Given the description of an element on the screen output the (x, y) to click on. 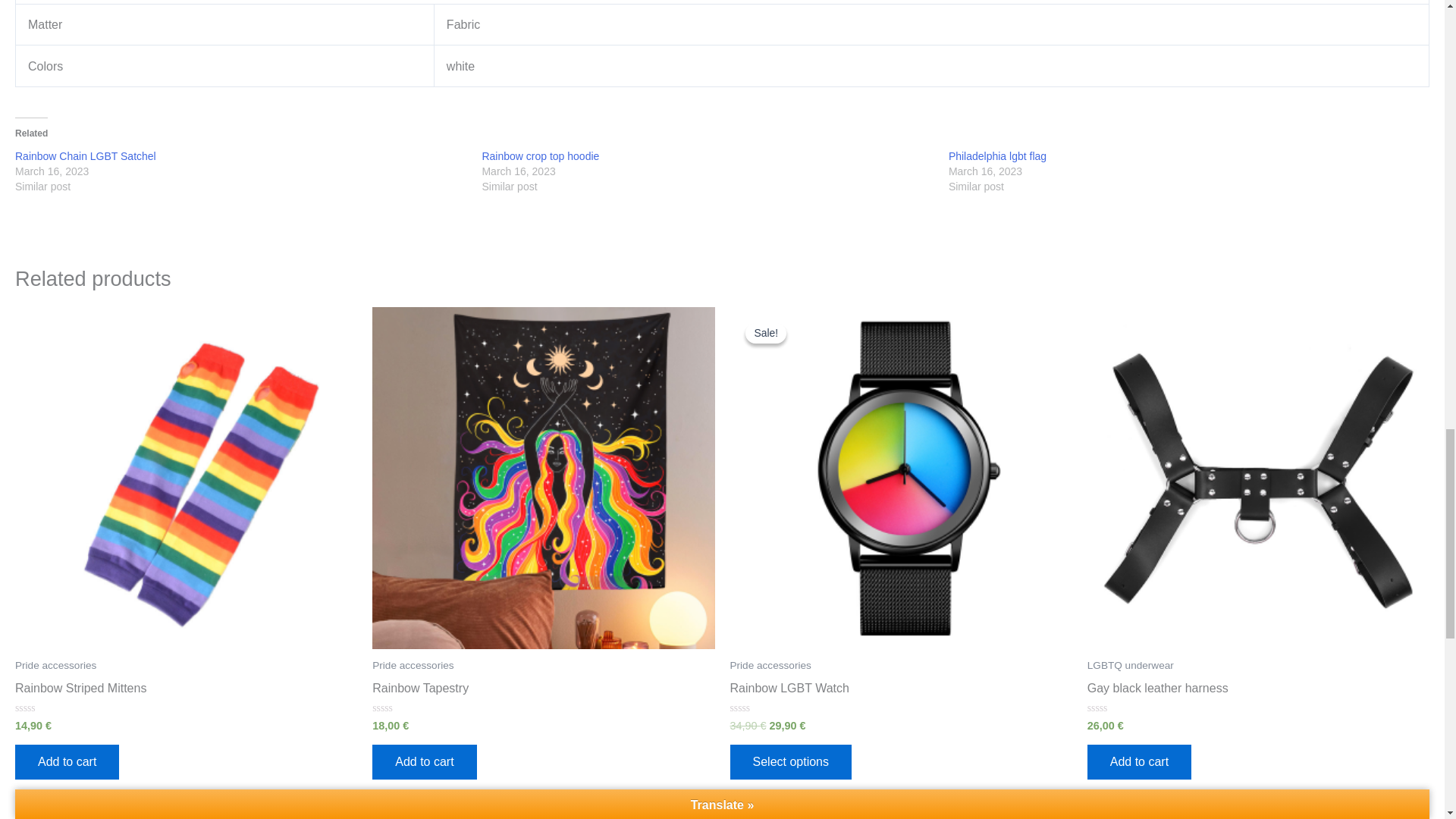
Rainbow Chain LGBT Satchel (84, 155)
Philadelphia lgbt flag (997, 155)
Rainbow crop top hoodie (539, 155)
